Given the description of an element on the screen output the (x, y) to click on. 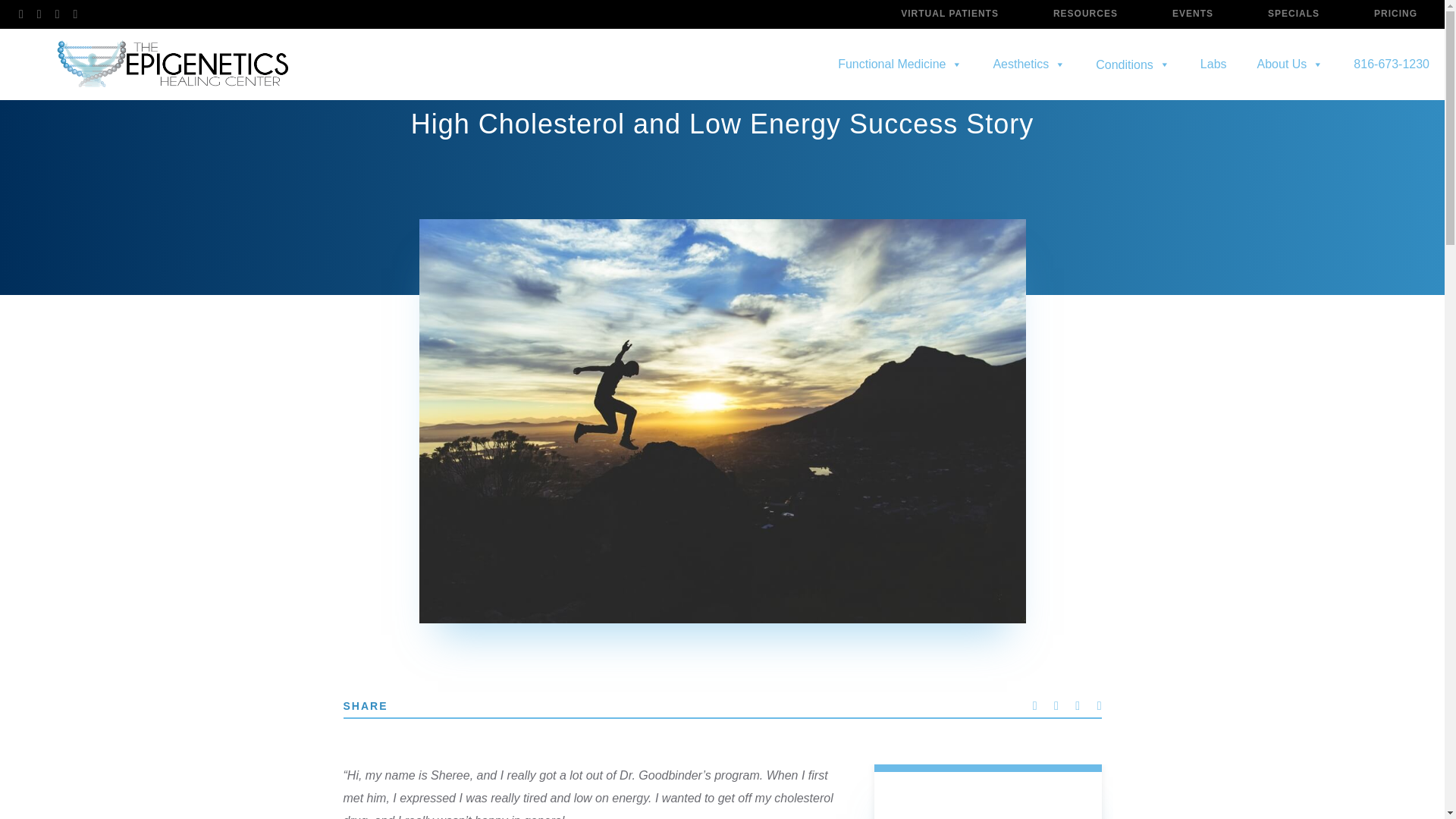
Functional Medicine (899, 63)
SPECIALS (1293, 14)
VIRTUAL PATIENTS (949, 14)
RESOURCES (1085, 14)
EVENTS (1192, 14)
Aesthetics (1028, 63)
